Given the description of an element on the screen output the (x, y) to click on. 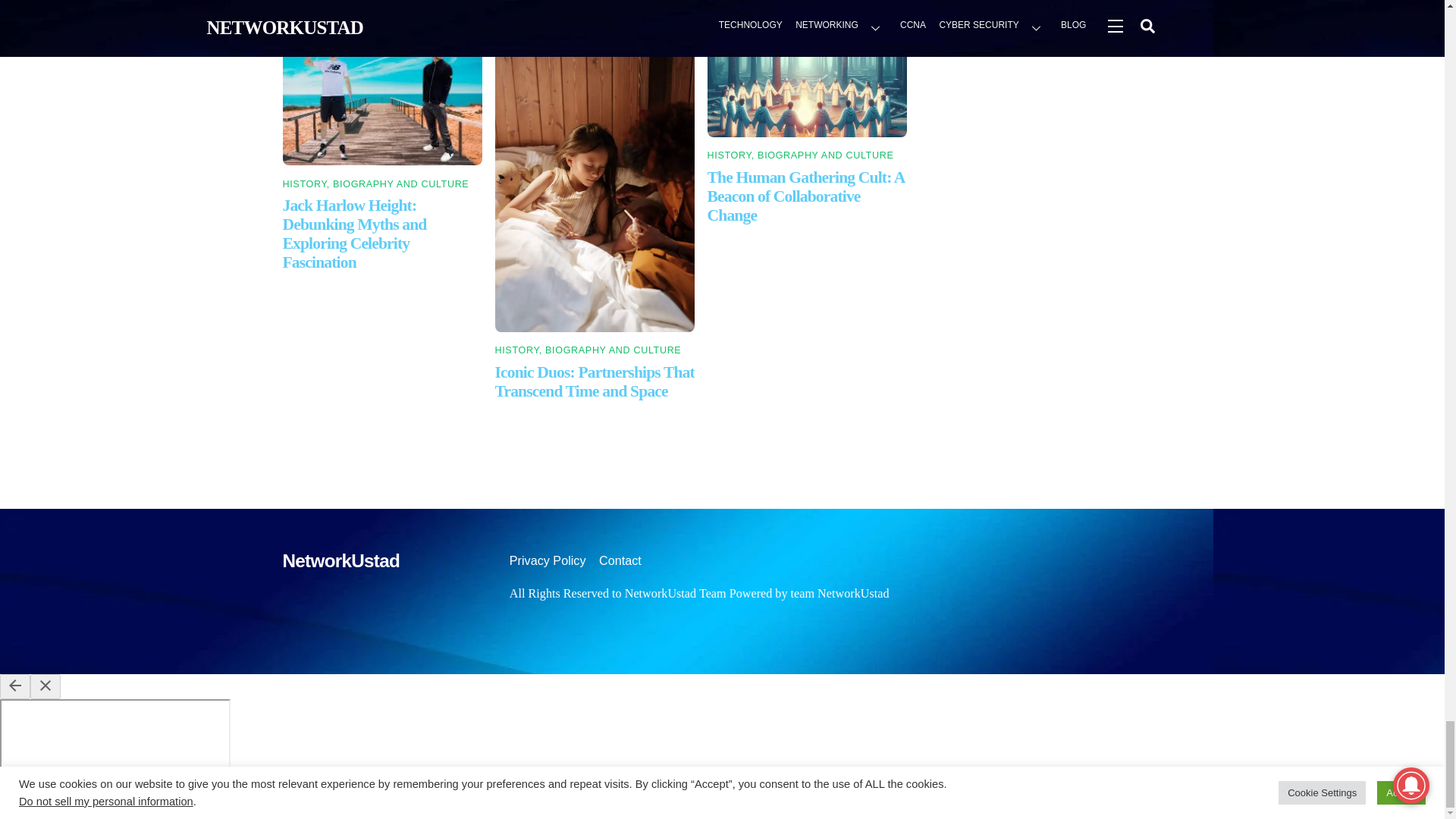
Iconic Duos: Partnerships That Transcend Time and Space (594, 381)
HISTORY, BIOGRAPHY AND CULTURE (375, 184)
HISTORY, BIOGRAPHY AND CULTURE (588, 349)
HISTORY, BIOGRAPHY AND CULTURE (800, 154)
